Given the description of an element on the screen output the (x, y) to click on. 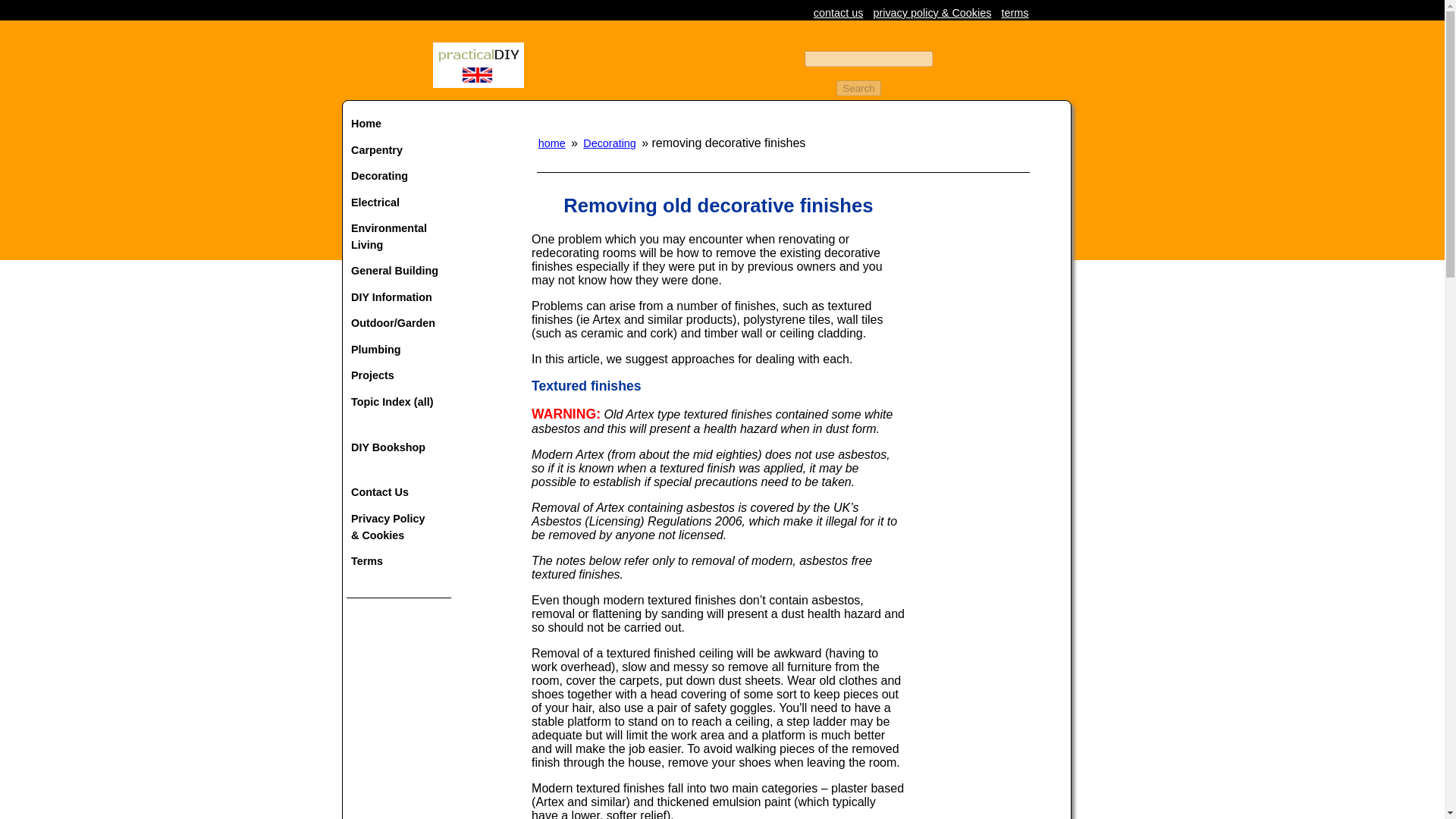
home (551, 143)
practicaldiy.com for DIY advice and information (478, 83)
terms (1014, 12)
Search (857, 88)
Carpentry (398, 150)
Search (857, 88)
contact us (838, 12)
Home (398, 123)
Decorating (398, 176)
Decorating (608, 143)
